Given the description of an element on the screen output the (x, y) to click on. 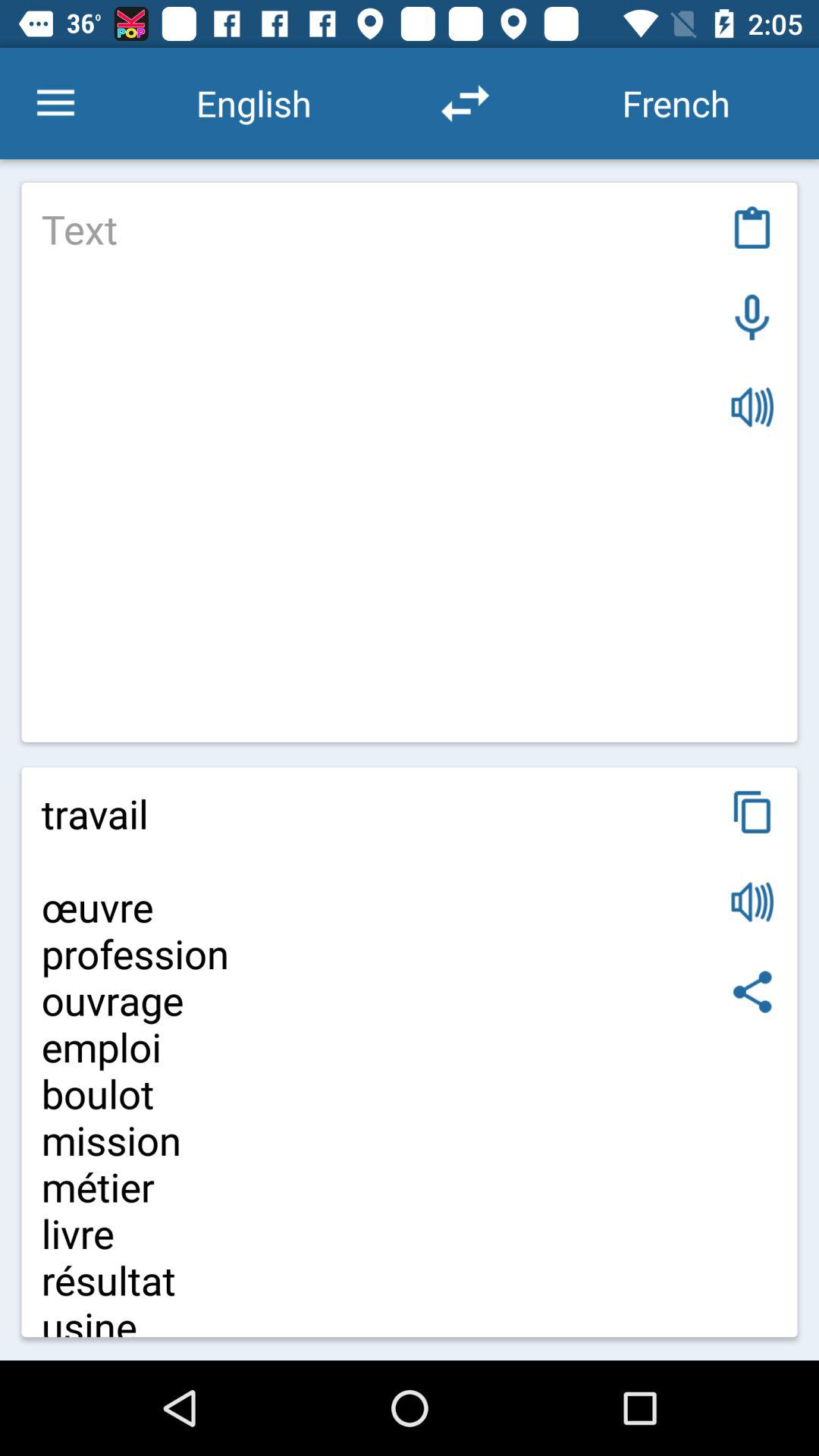
tap icon next to the english item (55, 103)
